Given the description of an element on the screen output the (x, y) to click on. 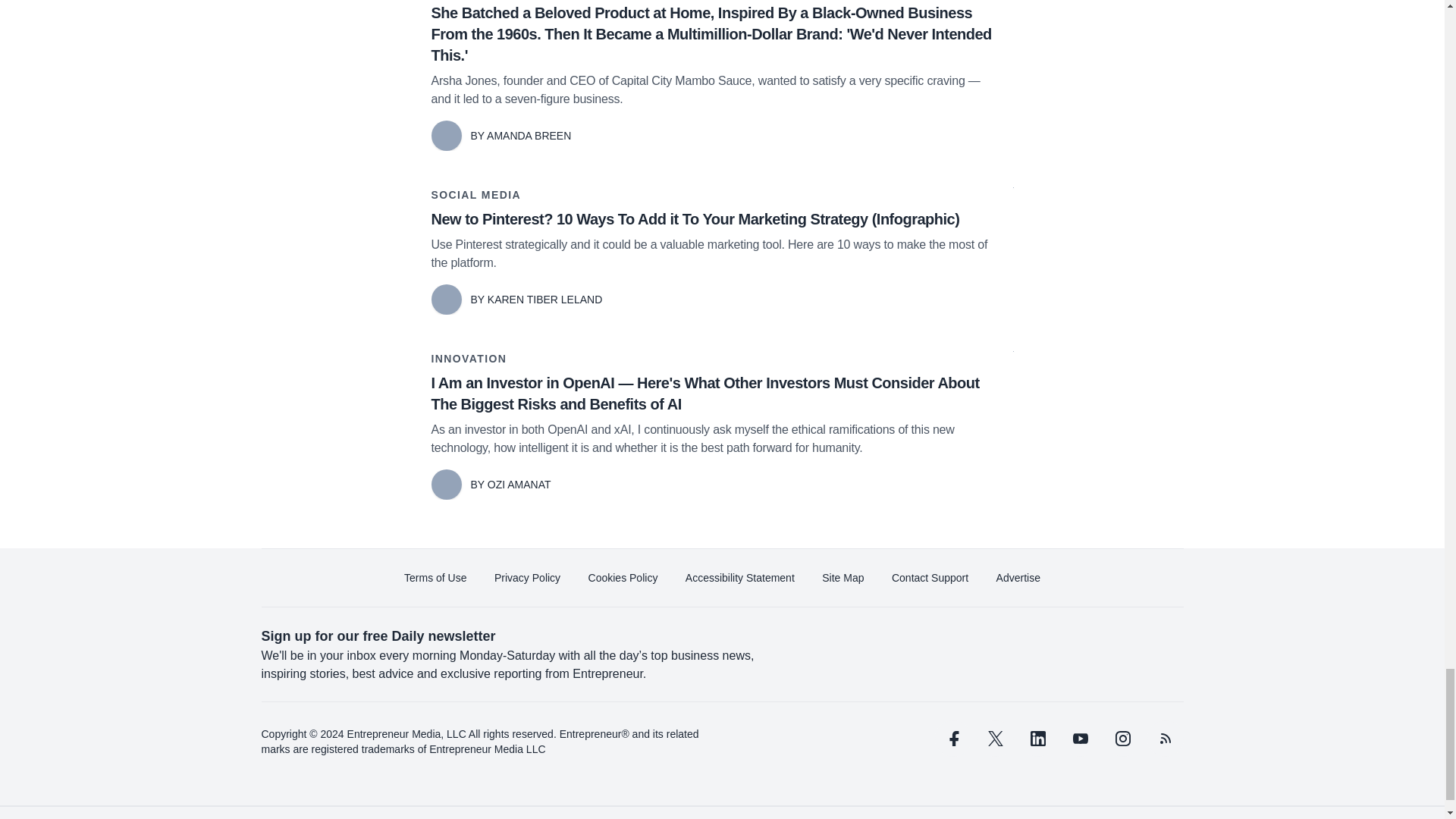
rss (1164, 738)
youtube (1079, 738)
linkedin (1037, 738)
twitter (994, 738)
facebook (952, 738)
instagram (1121, 738)
